Given the description of an element on the screen output the (x, y) to click on. 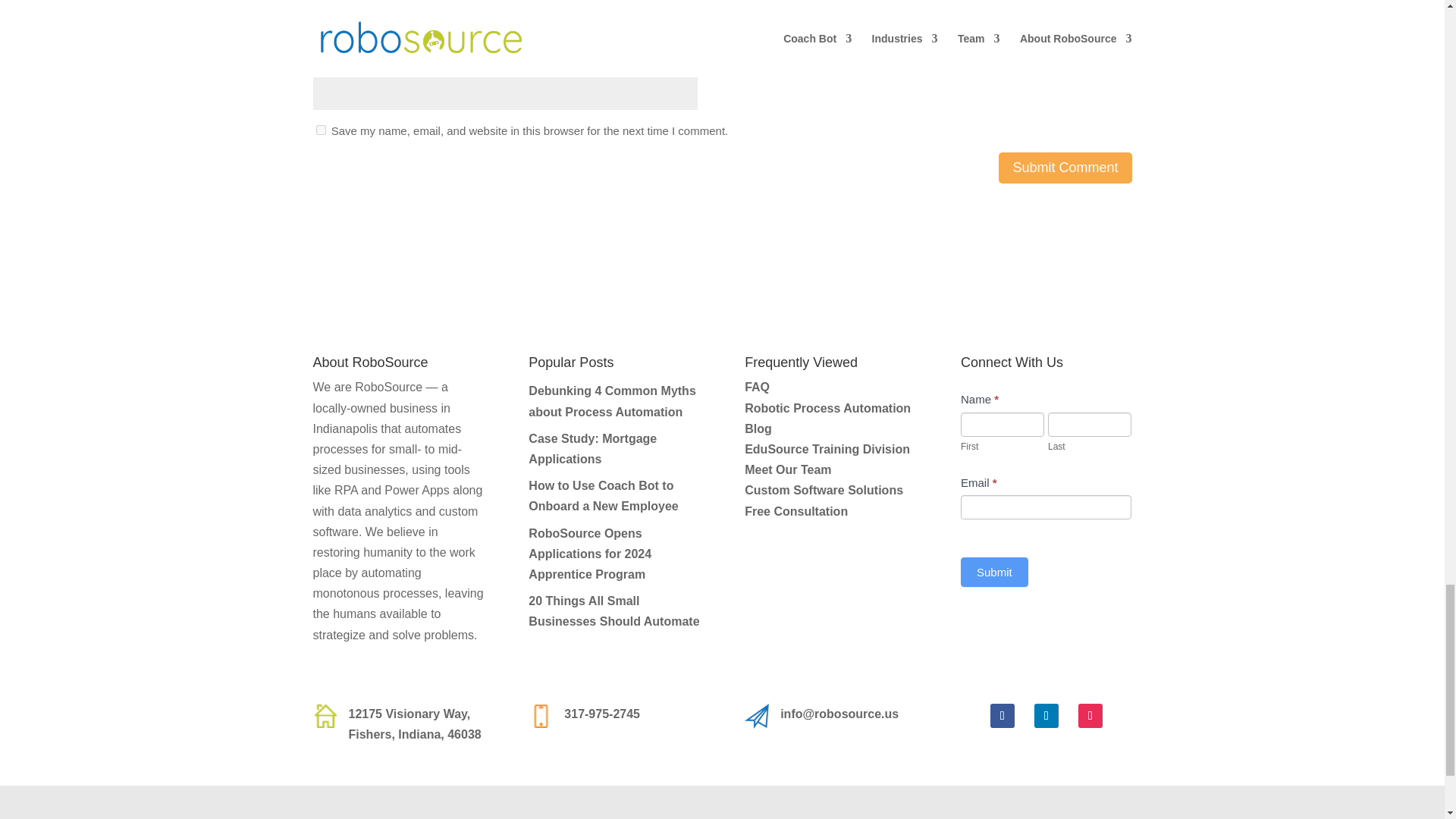
Follow on LinkedIn (1045, 715)
Follow on Facebook (1002, 715)
Submit Comment (1064, 167)
yes (319, 130)
Follow on Instagram (1090, 715)
